Given the description of an element on the screen output the (x, y) to click on. 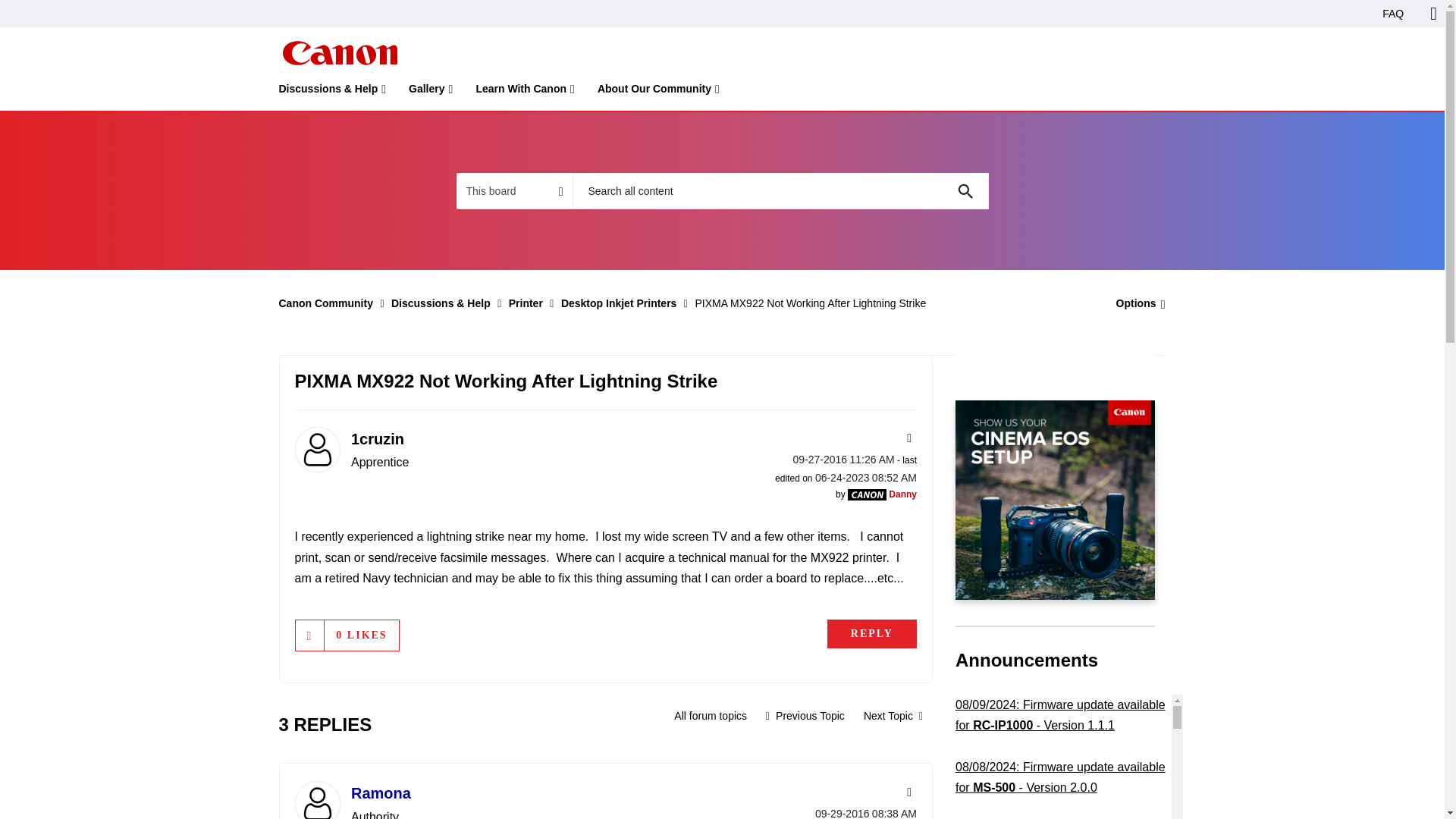
Search (780, 190)
About Our Community (657, 91)
Search Granularity (514, 190)
Search (964, 190)
Moderator (866, 494)
Show option menu (1136, 303)
1cruzin (316, 449)
Gallery (430, 91)
Canon Community (339, 53)
FAQ (1393, 13)
